Given the description of an element on the screen output the (x, y) to click on. 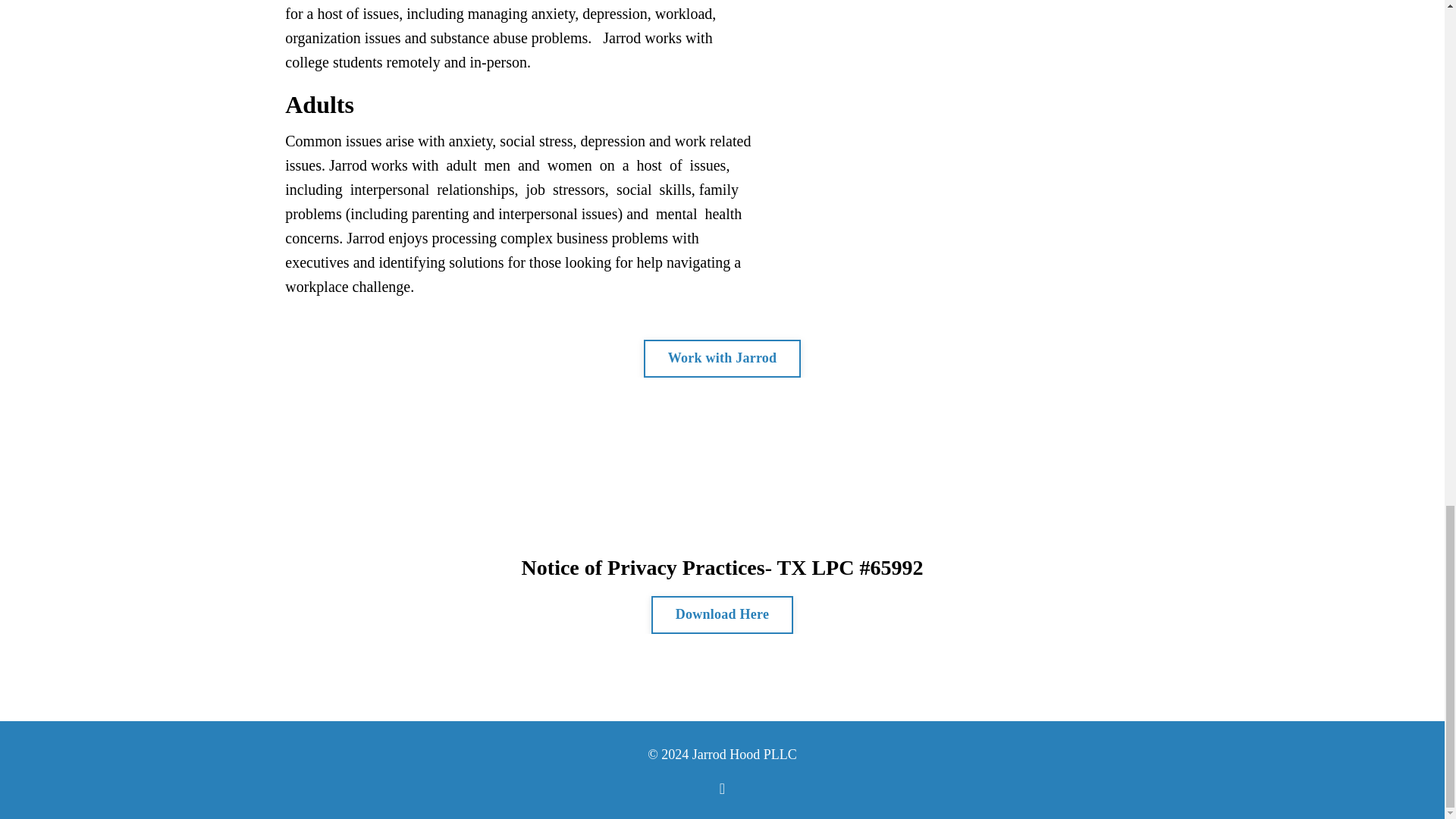
Download Here (721, 614)
Work with Jarrod (722, 358)
